Given the description of an element on the screen output the (x, y) to click on. 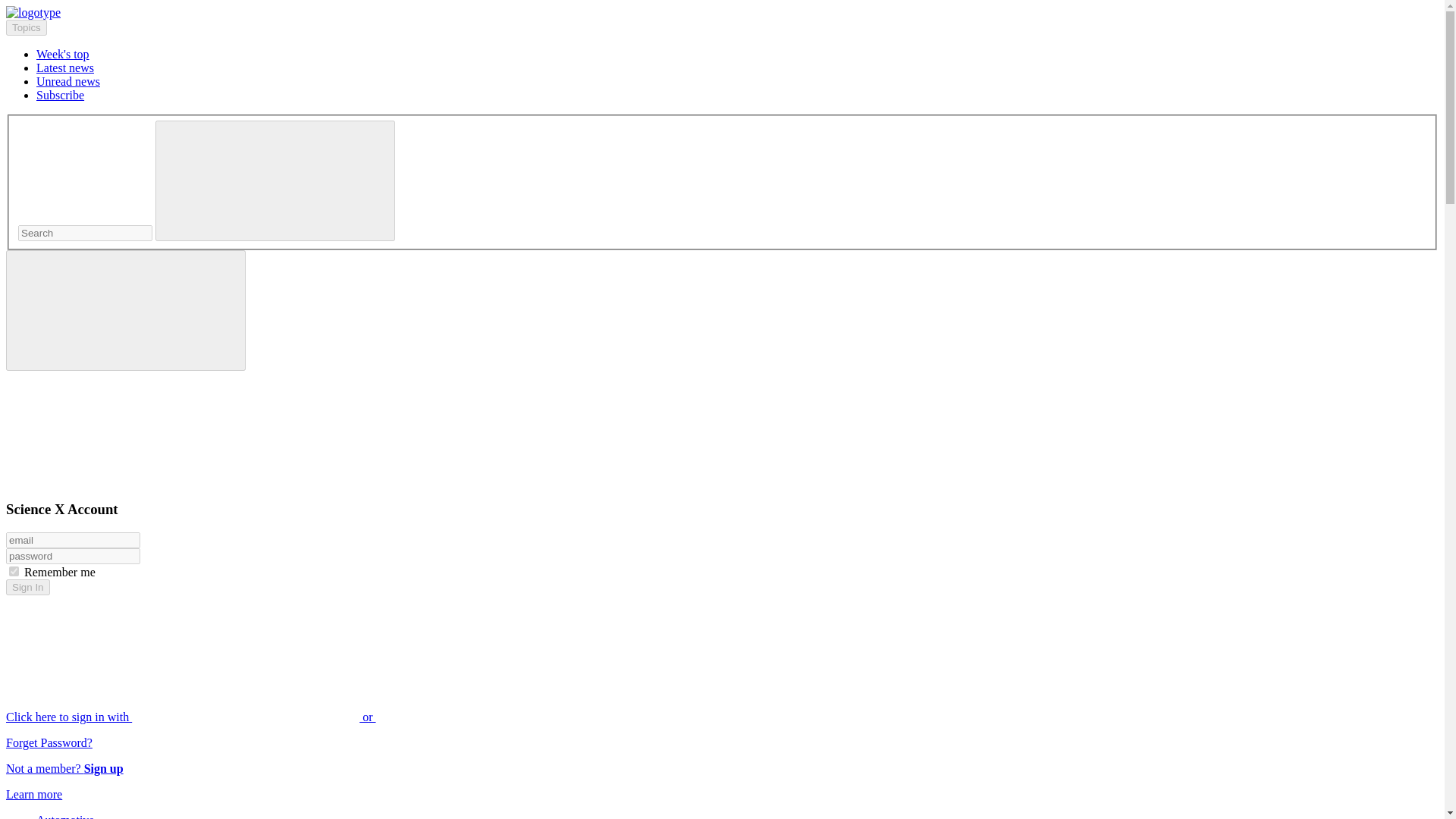
Click here to sign in with or (304, 716)
Unread news (68, 81)
Forget Password? (49, 742)
Learn more (33, 793)
Topics (25, 27)
Latest news (65, 67)
Automotive (65, 816)
Subscribe (60, 94)
Week's top (62, 53)
Sign In (27, 587)
on (13, 571)
Not a member? Sign up (64, 768)
